Given the description of an element on the screen output the (x, y) to click on. 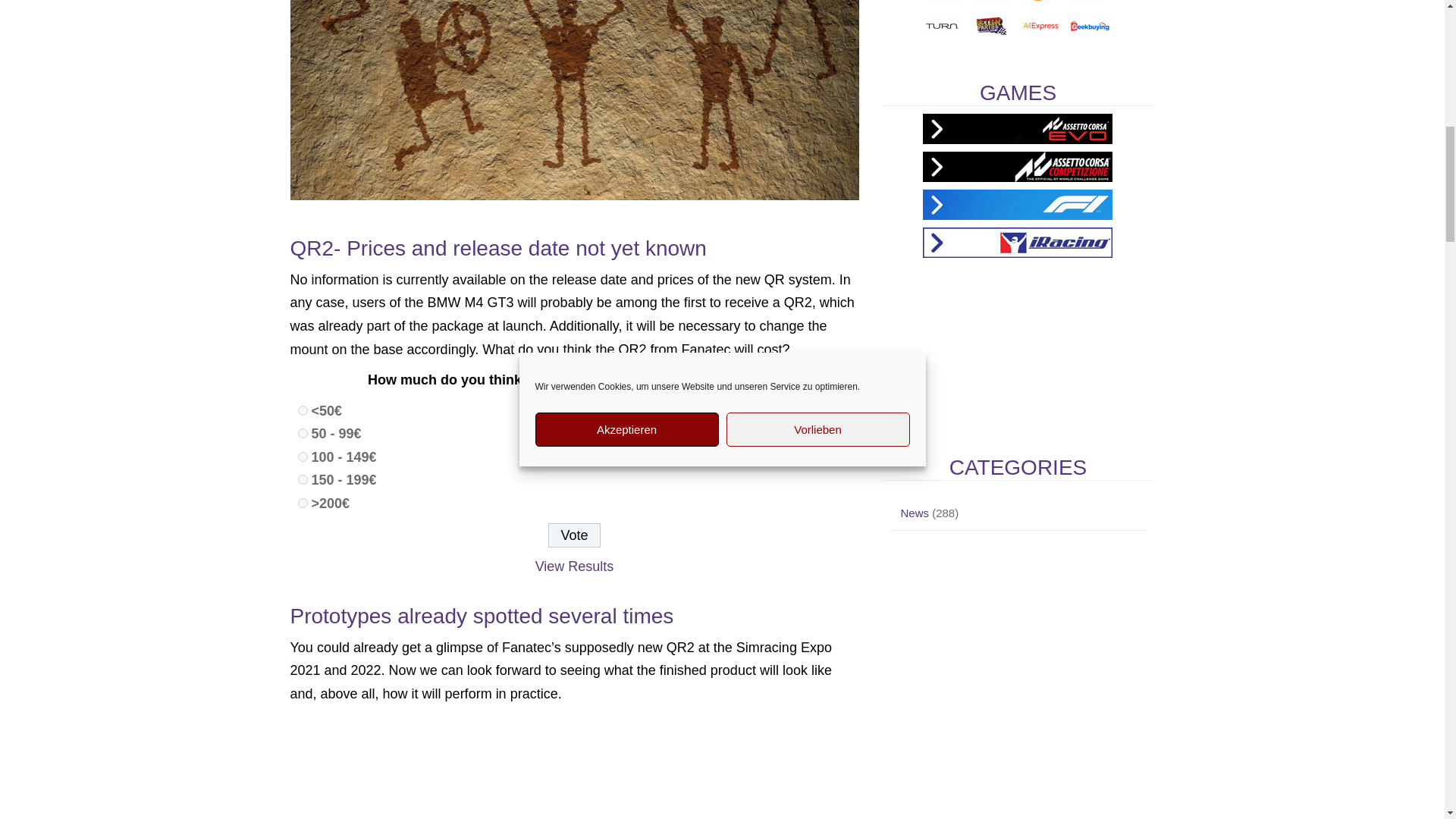
101 (302, 433)
View Results Of This Poll (574, 566)
102 (302, 456)
100 (302, 410)
   Vote    (573, 535)
104 (302, 502)
103 (302, 479)
